Given the description of an element on the screen output the (x, y) to click on. 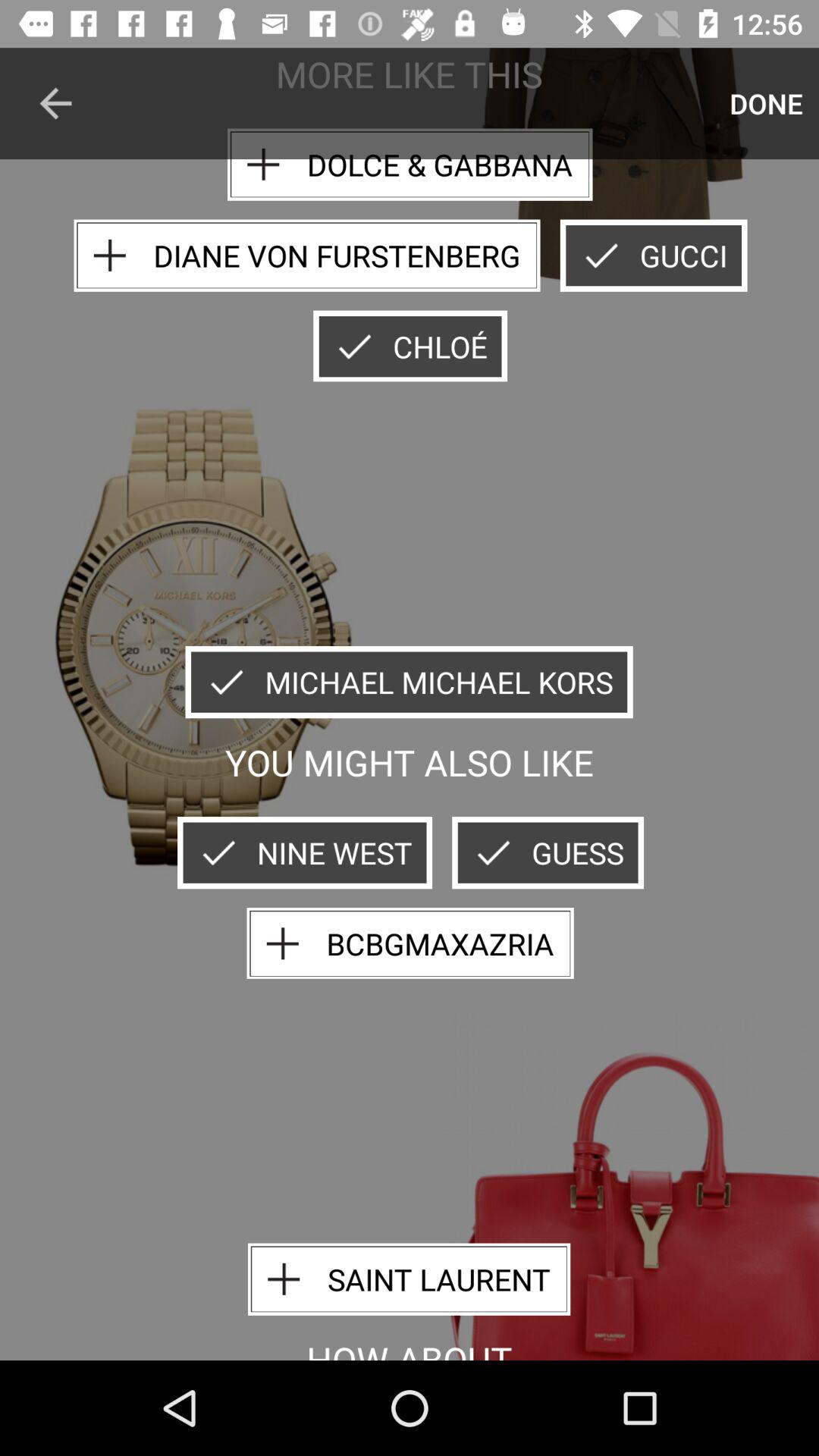
turn on the icon above the diane von furstenberg item (55, 103)
